Given the description of an element on the screen output the (x, y) to click on. 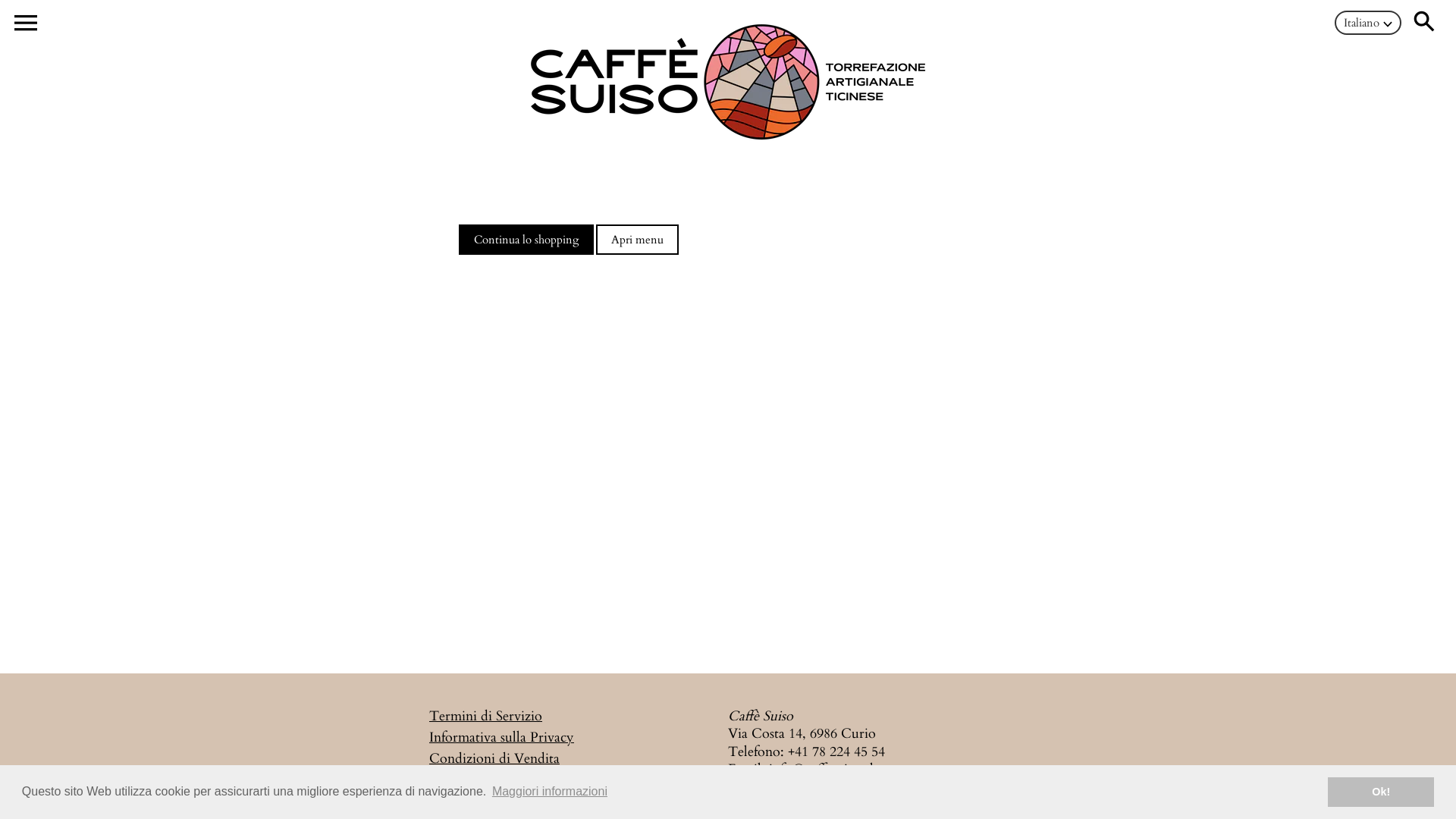
Continua lo shopping Element type: text (525, 239)
Condizioni di Vendita Element type: text (494, 758)
Instagram Element type: text (831, 787)
Apri menu Element type: text (637, 239)
Maggiori informazioni Element type: text (549, 791)
Termini di Servizio Element type: text (485, 715)
Facebook Element type: text (756, 787)
Informativa sulla Privacy Element type: text (501, 737)
info@caffesuiso.ch Element type: text (822, 768)
Consegna e Spedizione Element type: text (496, 779)
Italiano Element type: text (1367, 22)
Ok! Element type: text (1380, 791)
